Given the description of an element on the screen output the (x, y) to click on. 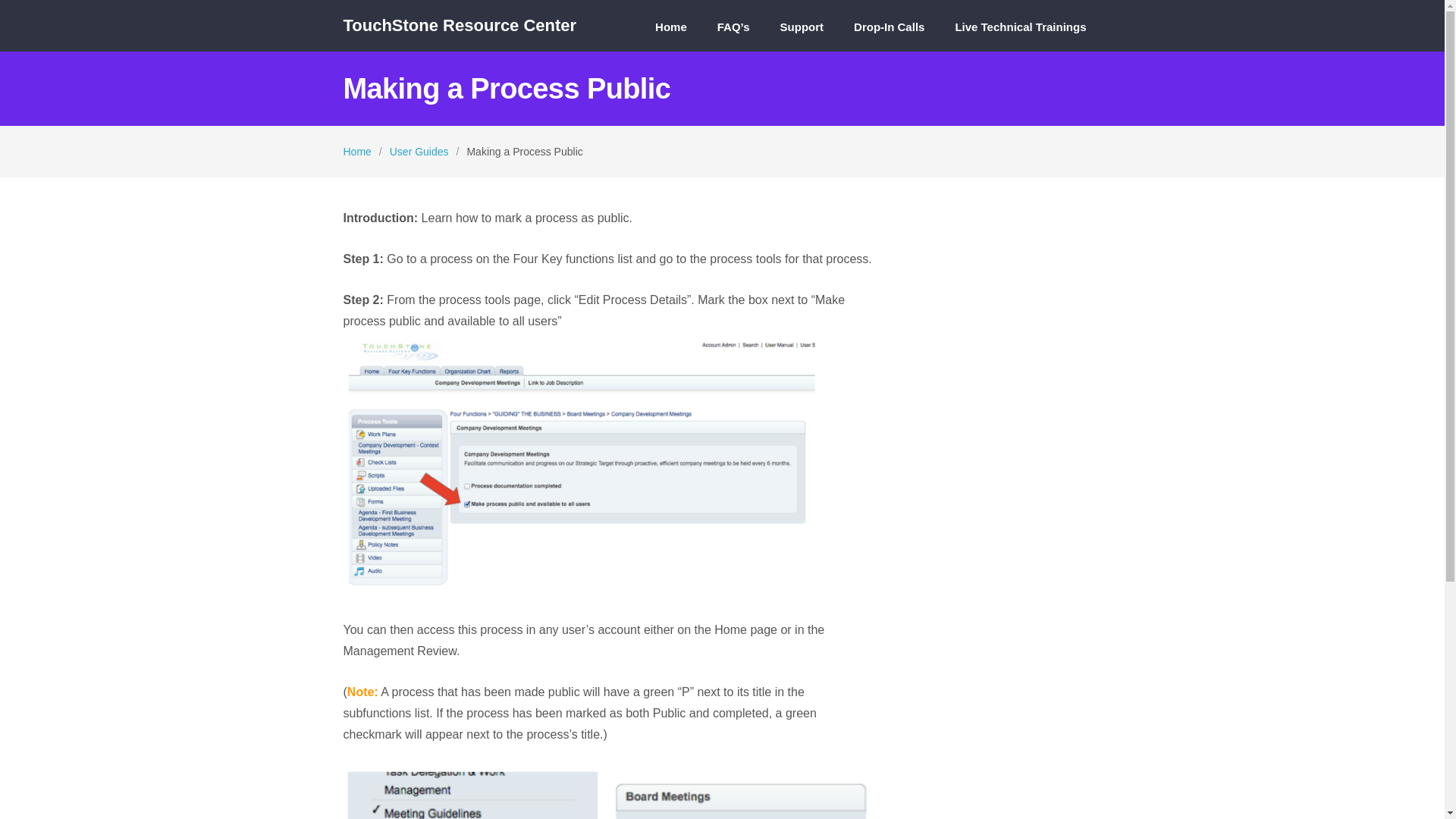
Support (802, 32)
User Guides (419, 151)
Home (356, 151)
Drop-In Calls (888, 32)
TouchStone Resource Center (459, 25)
Live Technical Trainings (1020, 32)
Home (671, 32)
TouchStone Help Desk (459, 25)
